Given the description of an element on the screen output the (x, y) to click on. 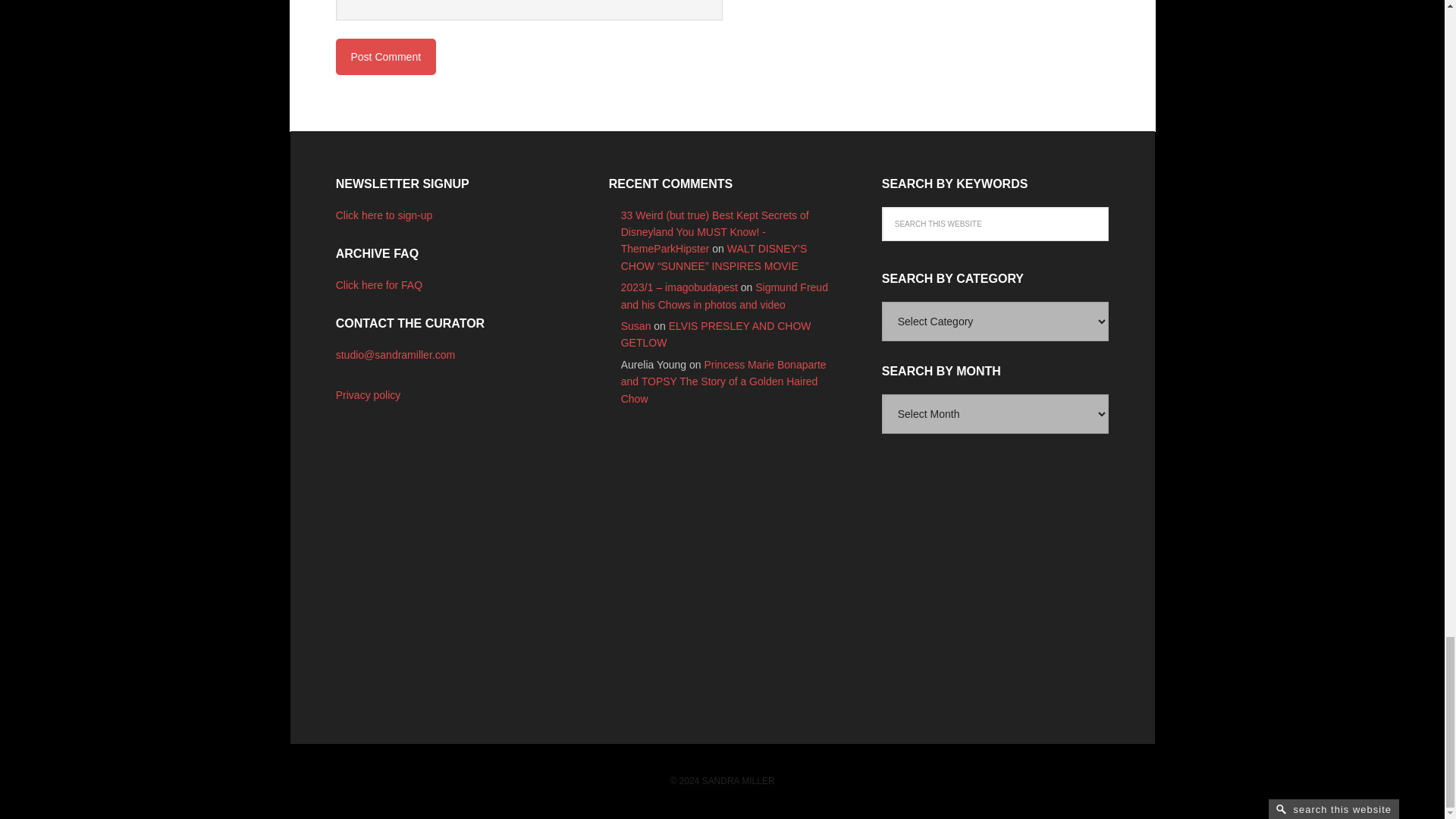
Post Comment (384, 56)
